Given the description of an element on the screen output the (x, y) to click on. 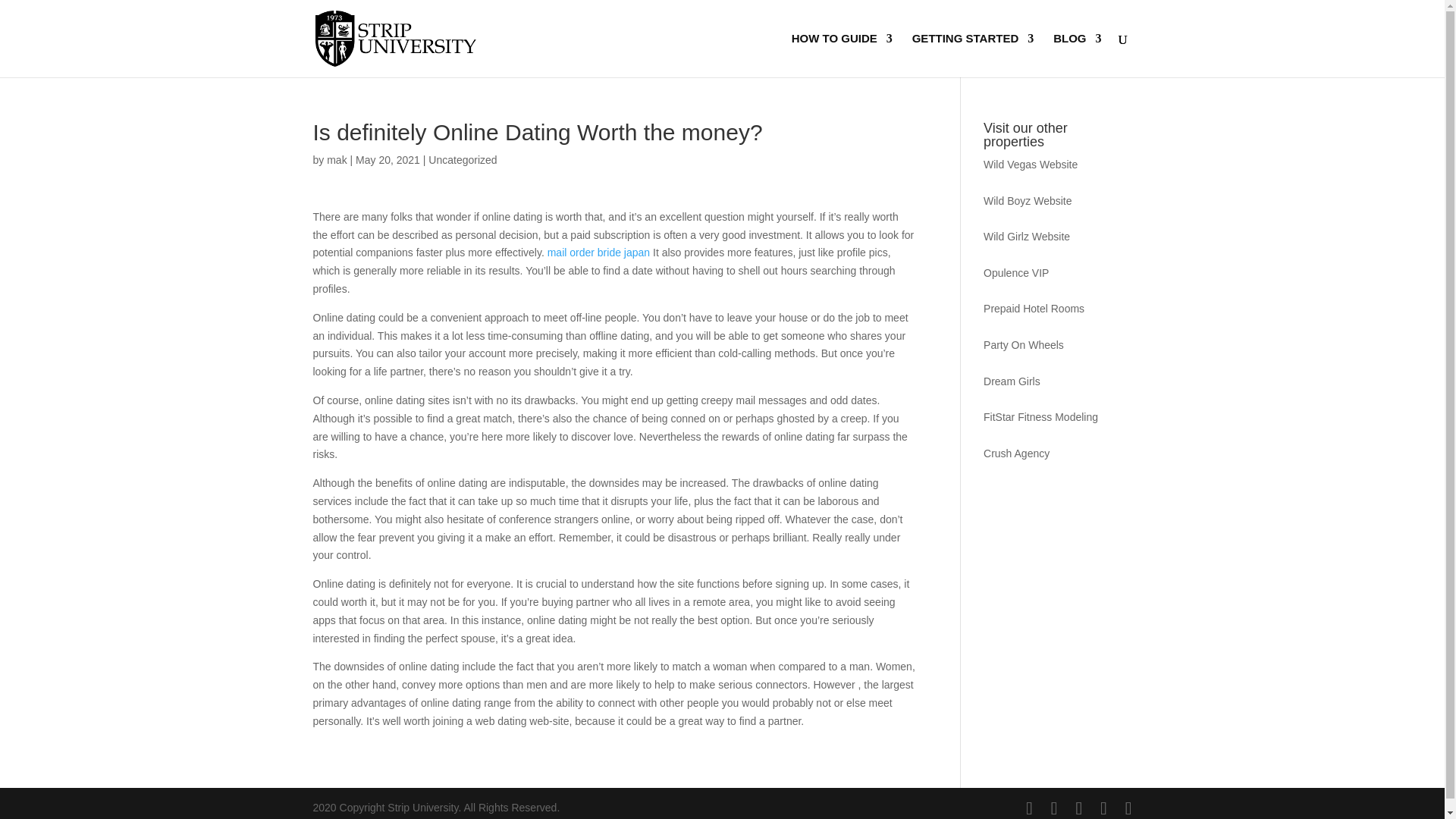
Posts by mak (336, 159)
BLOG (1076, 54)
HOW TO GUIDE (842, 54)
GETTING STARTED (972, 54)
